Given the description of an element on the screen output the (x, y) to click on. 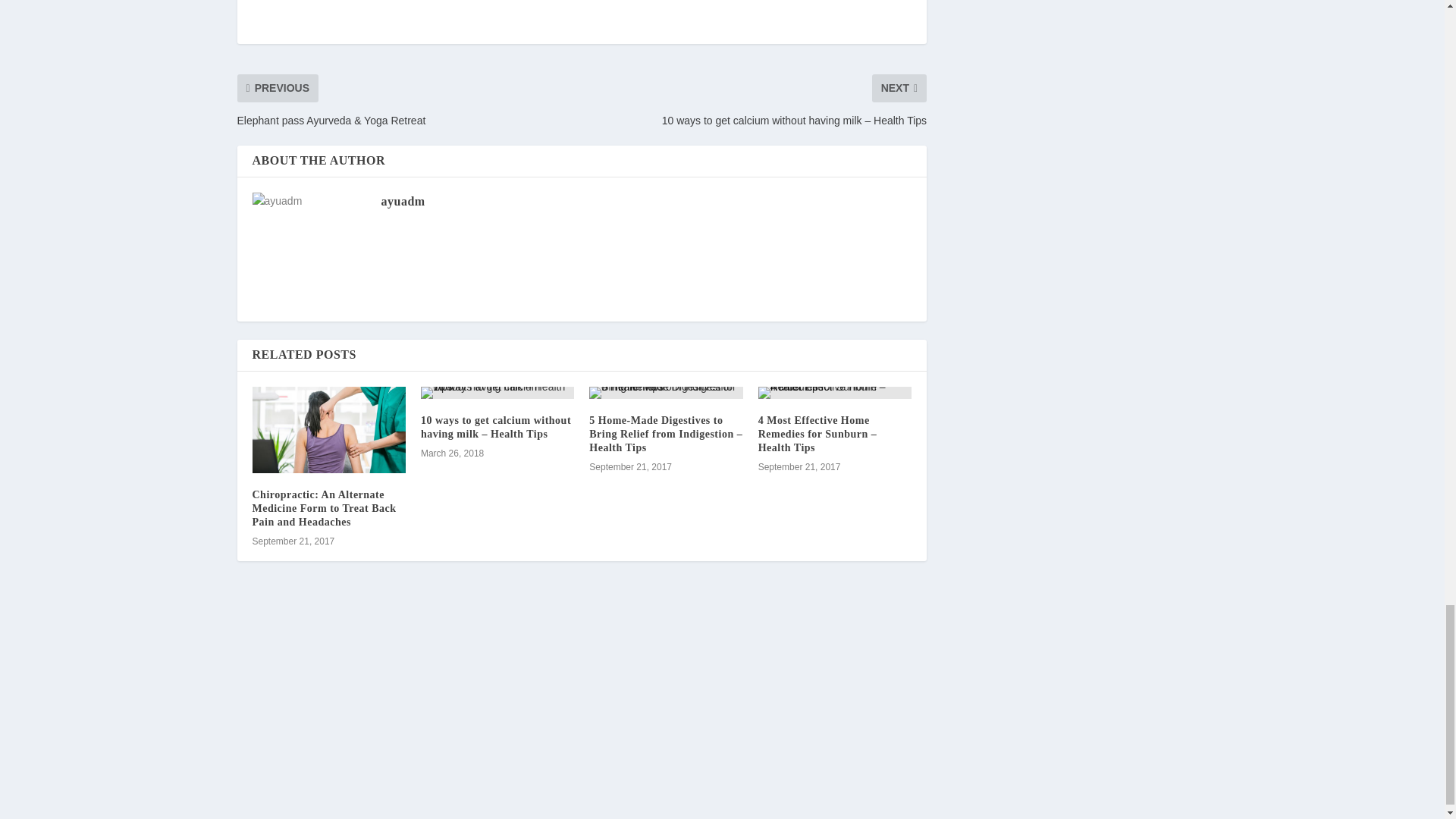
Advertisement (580, 22)
View all posts by ayuadm (402, 201)
